Given the description of an element on the screen output the (x, y) to click on. 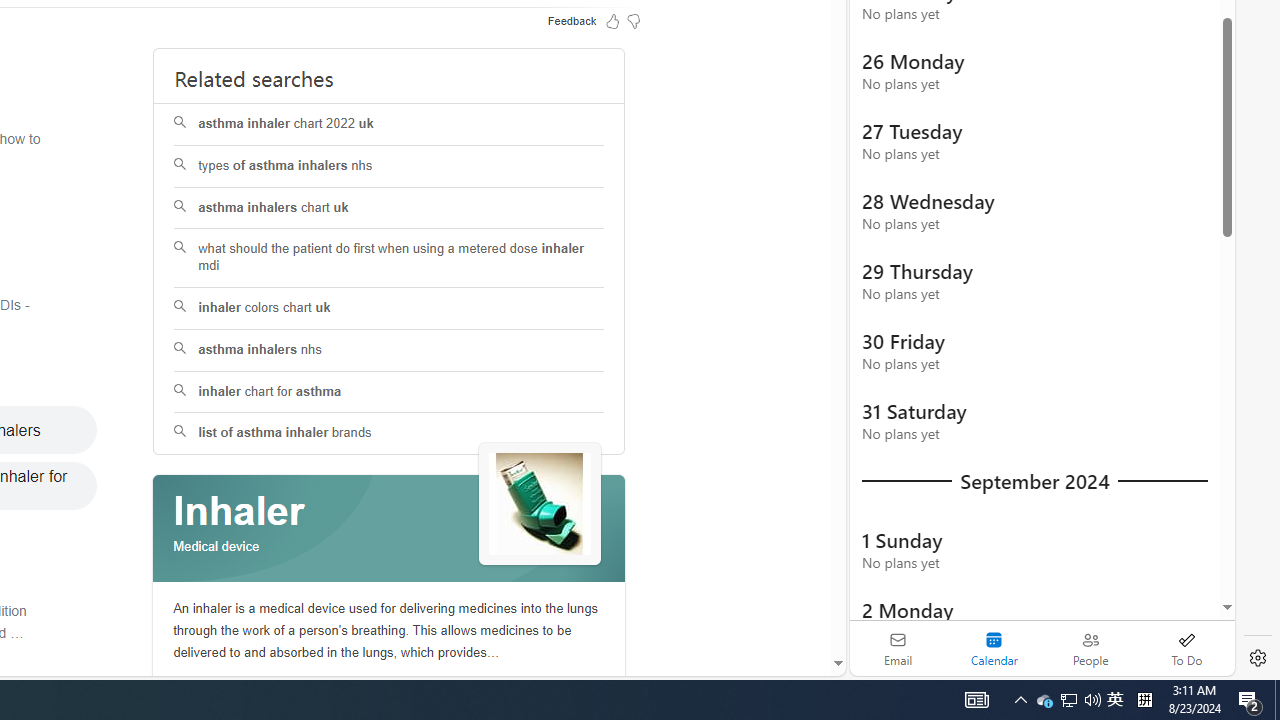
asthma inhalers chart uk (388, 207)
See more images of Inhaler (539, 505)
People (1090, 648)
See more images of Inhaler (539, 503)
